Given the description of an element on the screen output the (x, y) to click on. 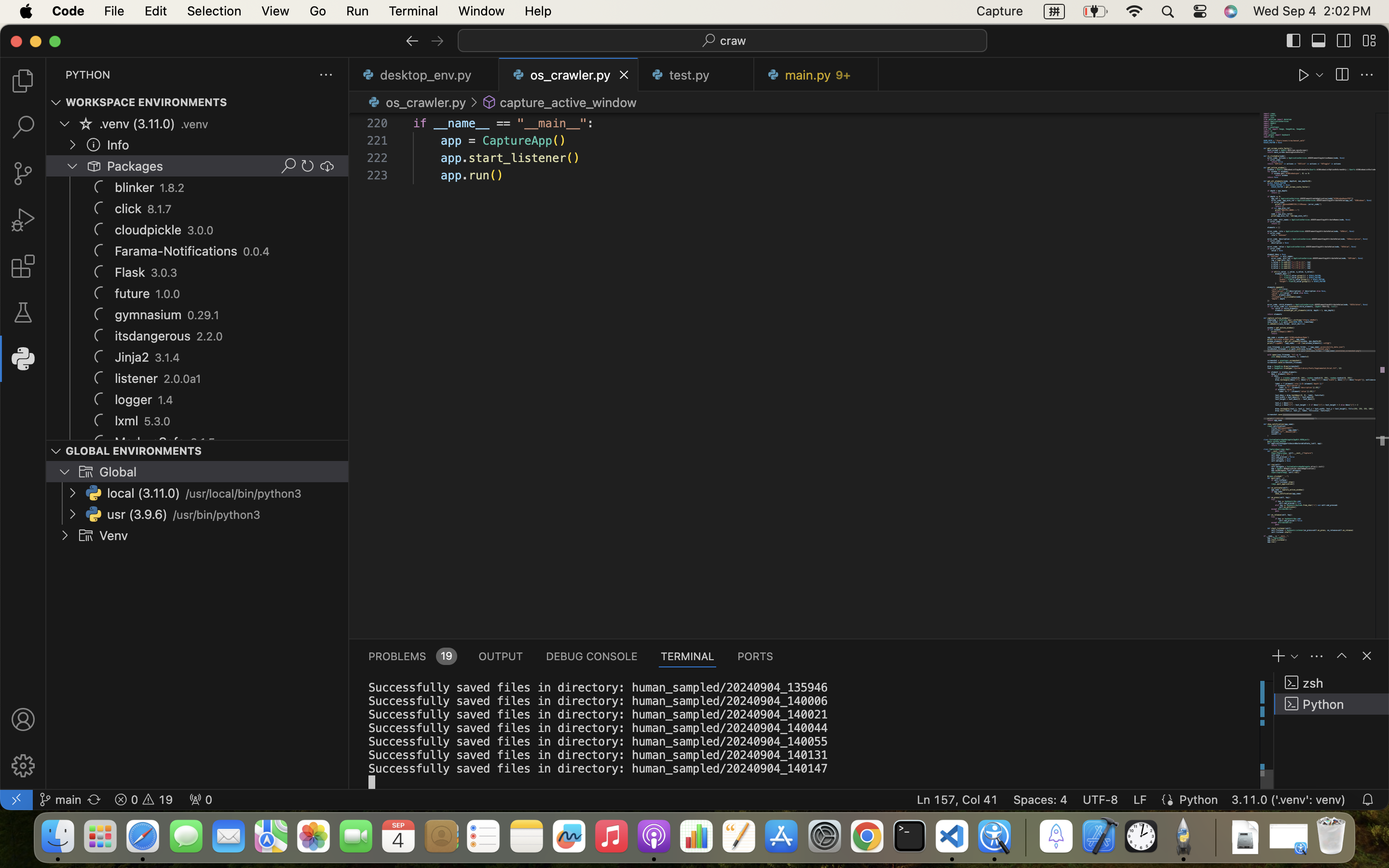
 Element type: AXCheckBox (1318, 40)
1.0.0 Element type: AXStaticText (167, 293)
0 test.py   Element type: AXRadioButton (696, 74)
 Element type: AXButton (288, 165)
0 OUTPUT Element type: AXRadioButton (500, 655)
